Given the description of an element on the screen output the (x, y) to click on. 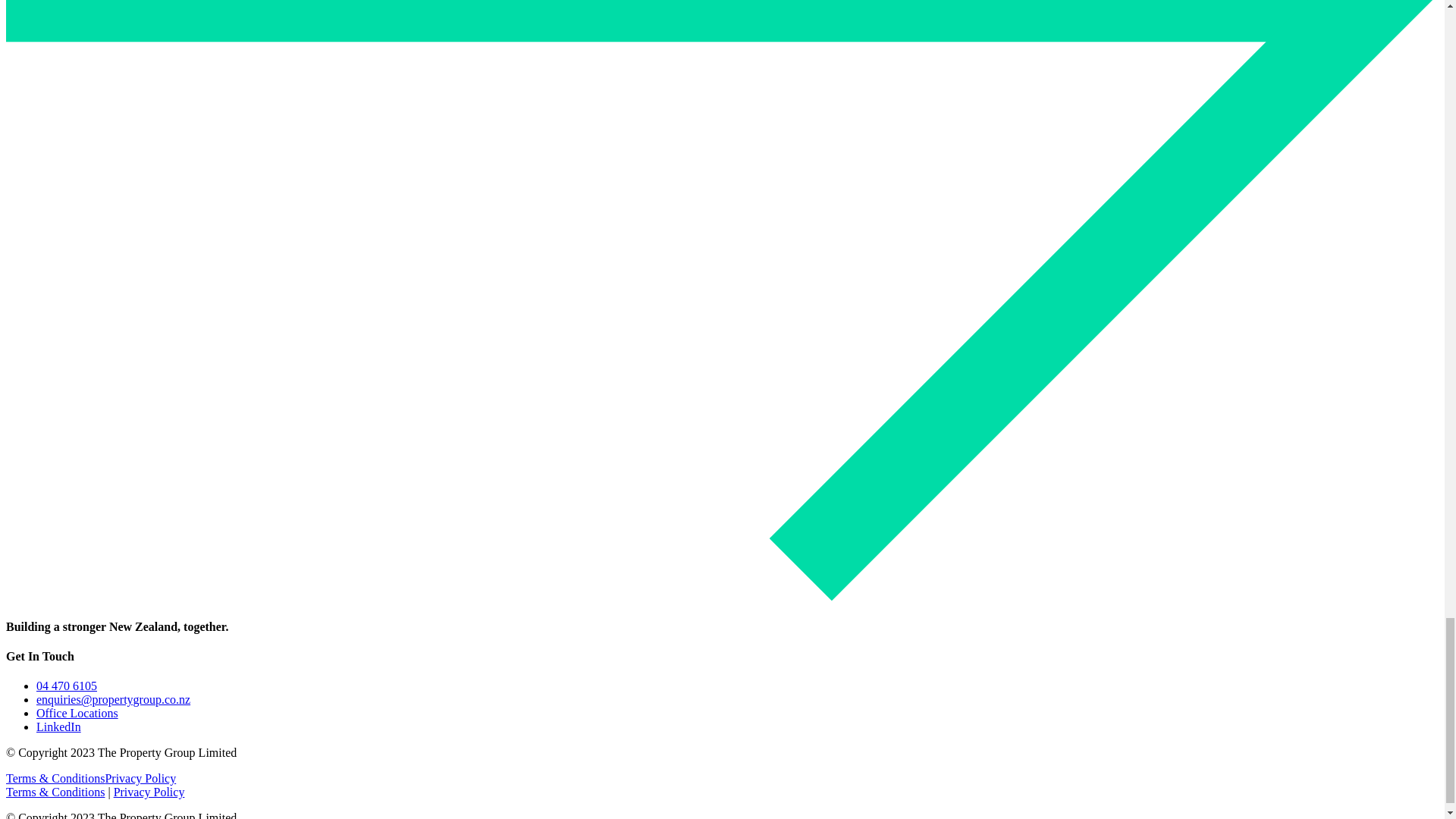
Privacy Policy (148, 791)
Office Locations (76, 712)
04 470 6105 (66, 685)
Privacy Policy (140, 778)
LinkedIn (58, 726)
